Given the description of an element on the screen output the (x, y) to click on. 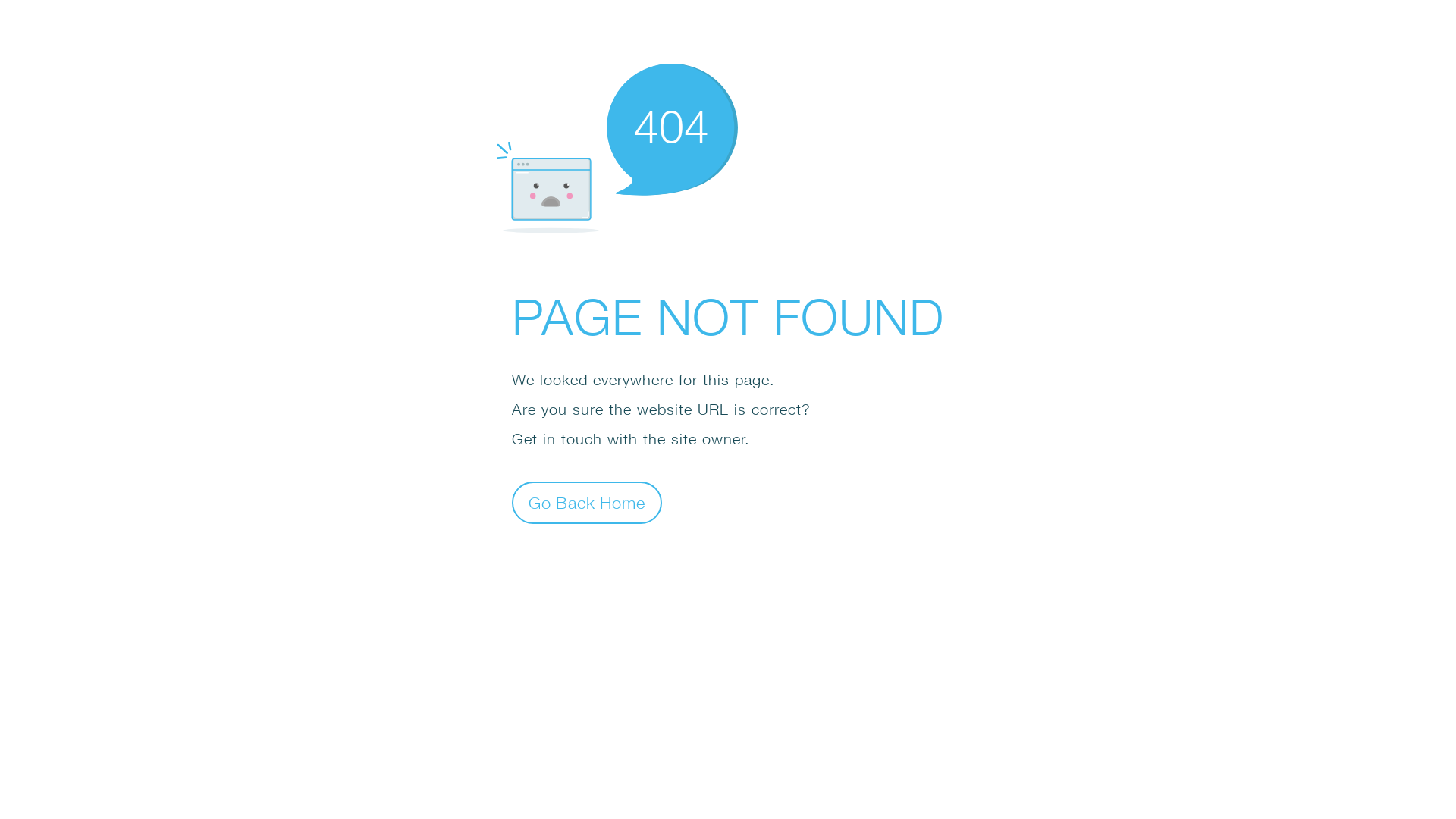
Go Back Home Element type: text (586, 502)
